Given the description of an element on the screen output the (x, y) to click on. 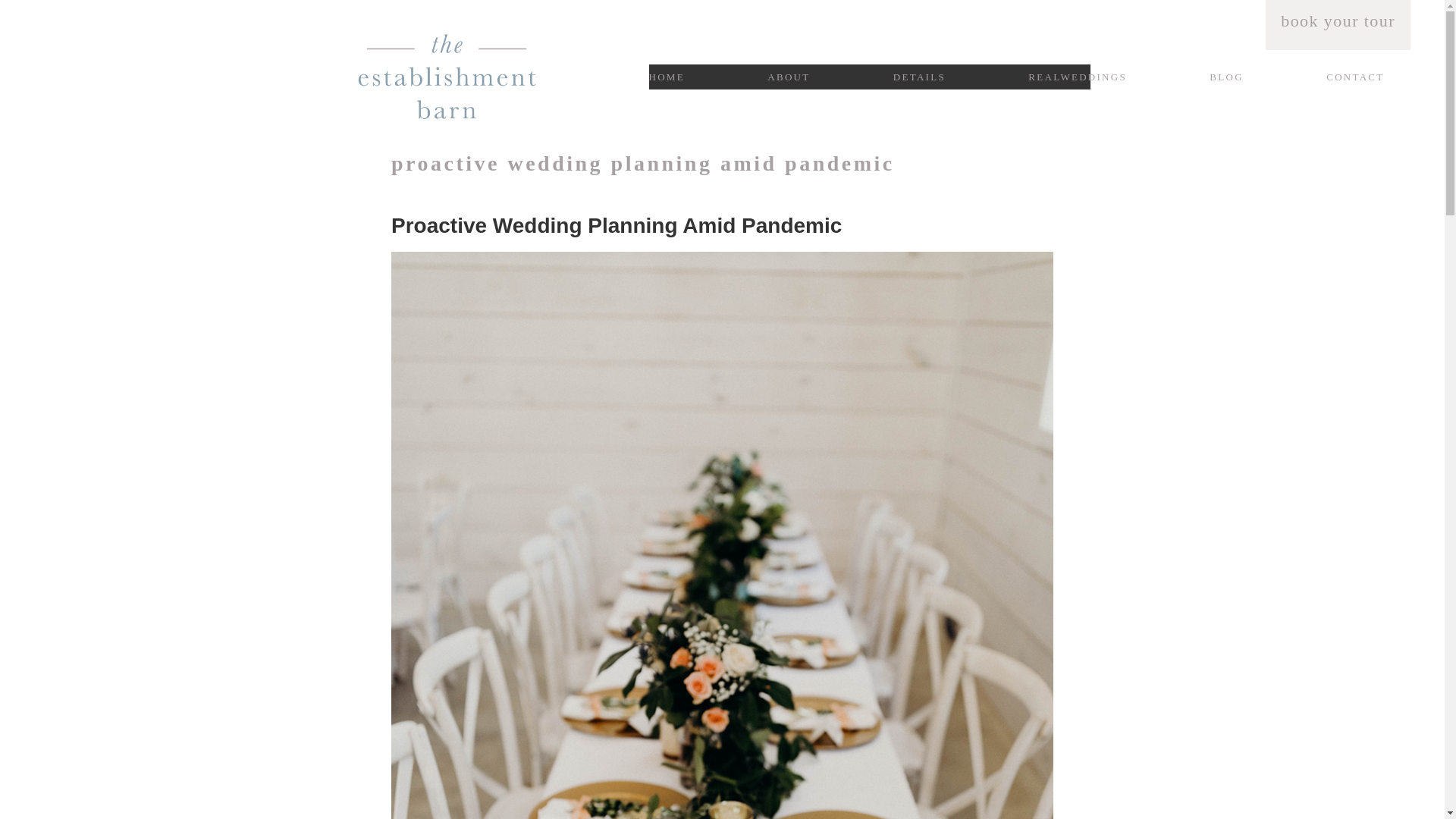
HOME (666, 76)
REALWEDDINGS (1076, 76)
BLOG (1226, 76)
ABOUT (788, 76)
DETAILS (918, 76)
CONTACT (1355, 76)
book your tour (1337, 20)
